Given the description of an element on the screen output the (x, y) to click on. 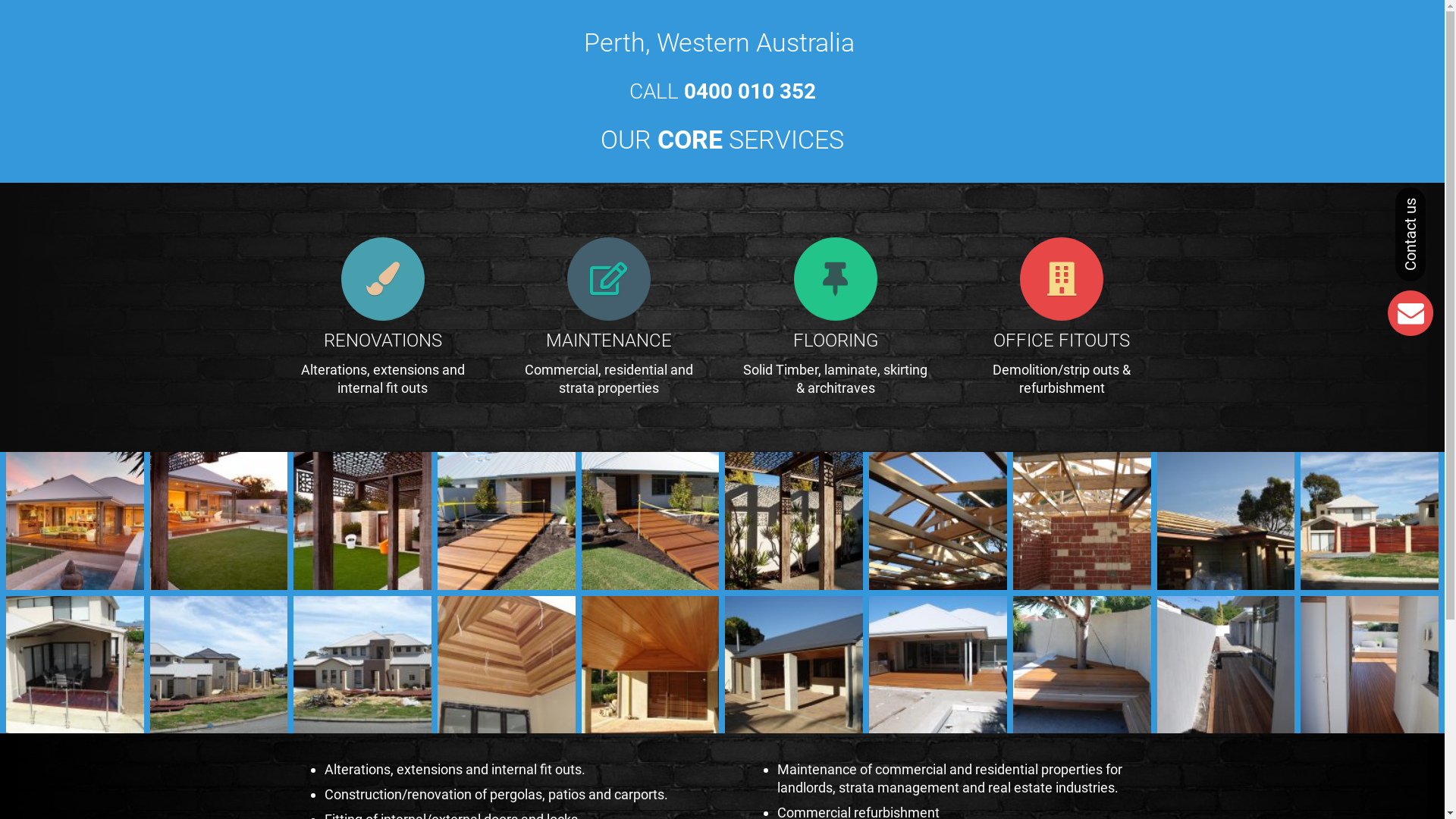
Jasmin Carpentry 9 Element type: hover (506, 665)
Jasmin Carpentry 20 Element type: hover (362, 520)
Jasmin Carpentry 18 Element type: hover (793, 520)
Jasmin Carpentry 22 Element type: hover (75, 520)
Jasmin Carpentry 5 Element type: hover (1082, 665)
Jasmin Carpentry 8 Element type: hover (650, 665)
Jasmin Carpentry 10 Element type: hover (362, 665)
Jasmin Carpentry 11 Element type: hover (219, 665)
Jasmin Carpentry 7 Element type: hover (793, 665)
Jasmin Carpentry 14 Element type: hover (1226, 520)
Jasmin Carpentry 4 Element type: hover (1226, 665)
Jasmin Carpentry 12 Element type: hover (75, 665)
Jasmin Carpentry 6 Element type: hover (938, 665)
Jasmin Carpentry 16 Element type: hover (938, 520)
Jasmin Carpentry 3 Element type: hover (1369, 665)
Jasmin Carpentry 1 Element type: hover (650, 520)
Jasmin Carpentry 13 Element type: hover (1369, 520)
Jasmin Carpentry 15 Element type: hover (1082, 520)
Jasmin Carpentry 2 Element type: hover (506, 520)
Jasmin Carpentry 21 Element type: hover (219, 520)
